Given the description of an element on the screen output the (x, y) to click on. 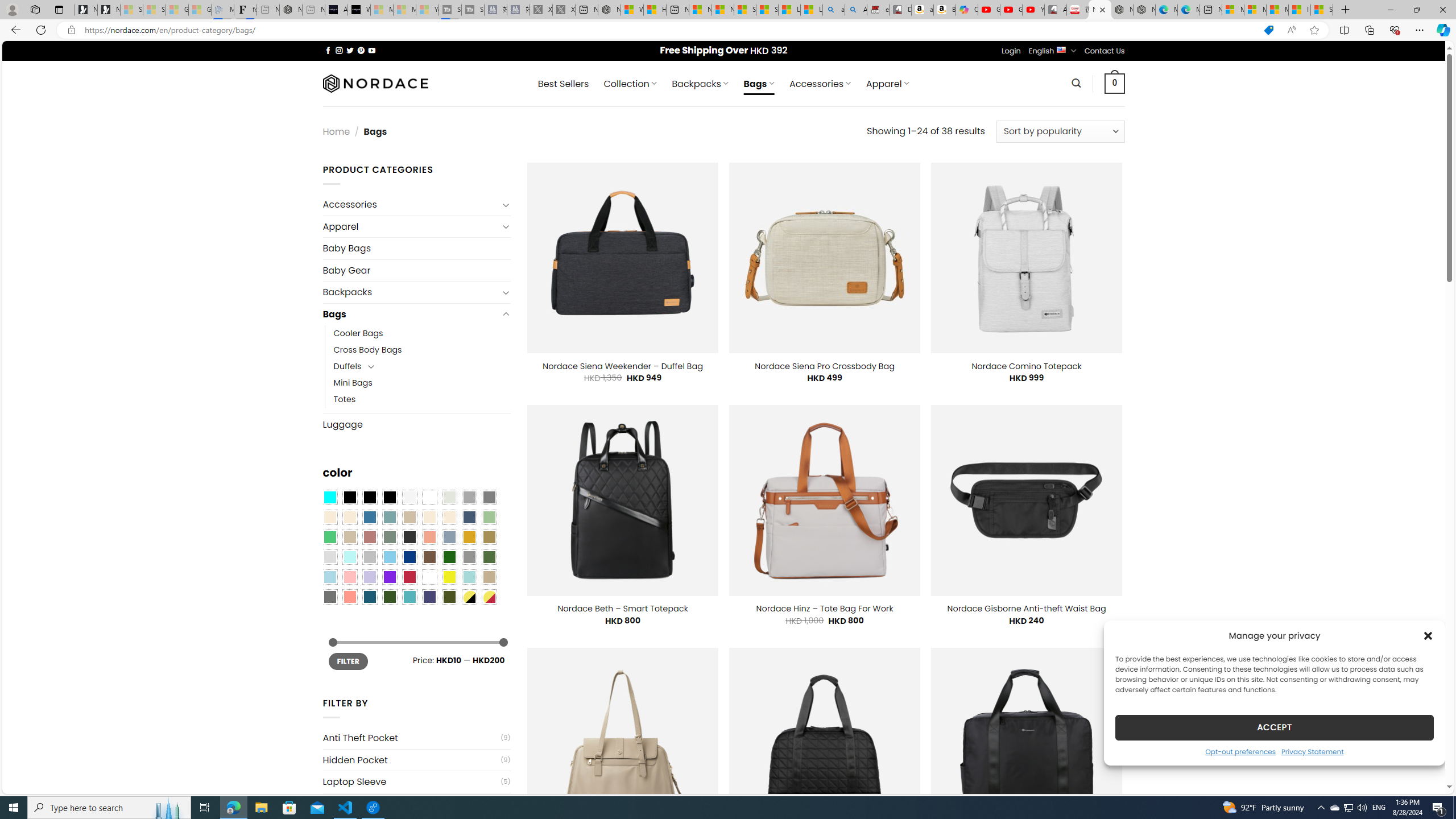
This site has coupons! Shopping in Microsoft Edge (1268, 29)
Khaki (488, 577)
Duffels (347, 366)
Anti Theft Pocket (410, 738)
Login (1010, 50)
Brownie (408, 517)
Dark Gray (468, 497)
Forest (389, 596)
Capri Blue (369, 596)
Newsletter Sign Up (109, 9)
